Given the description of an element on the screen output the (x, y) to click on. 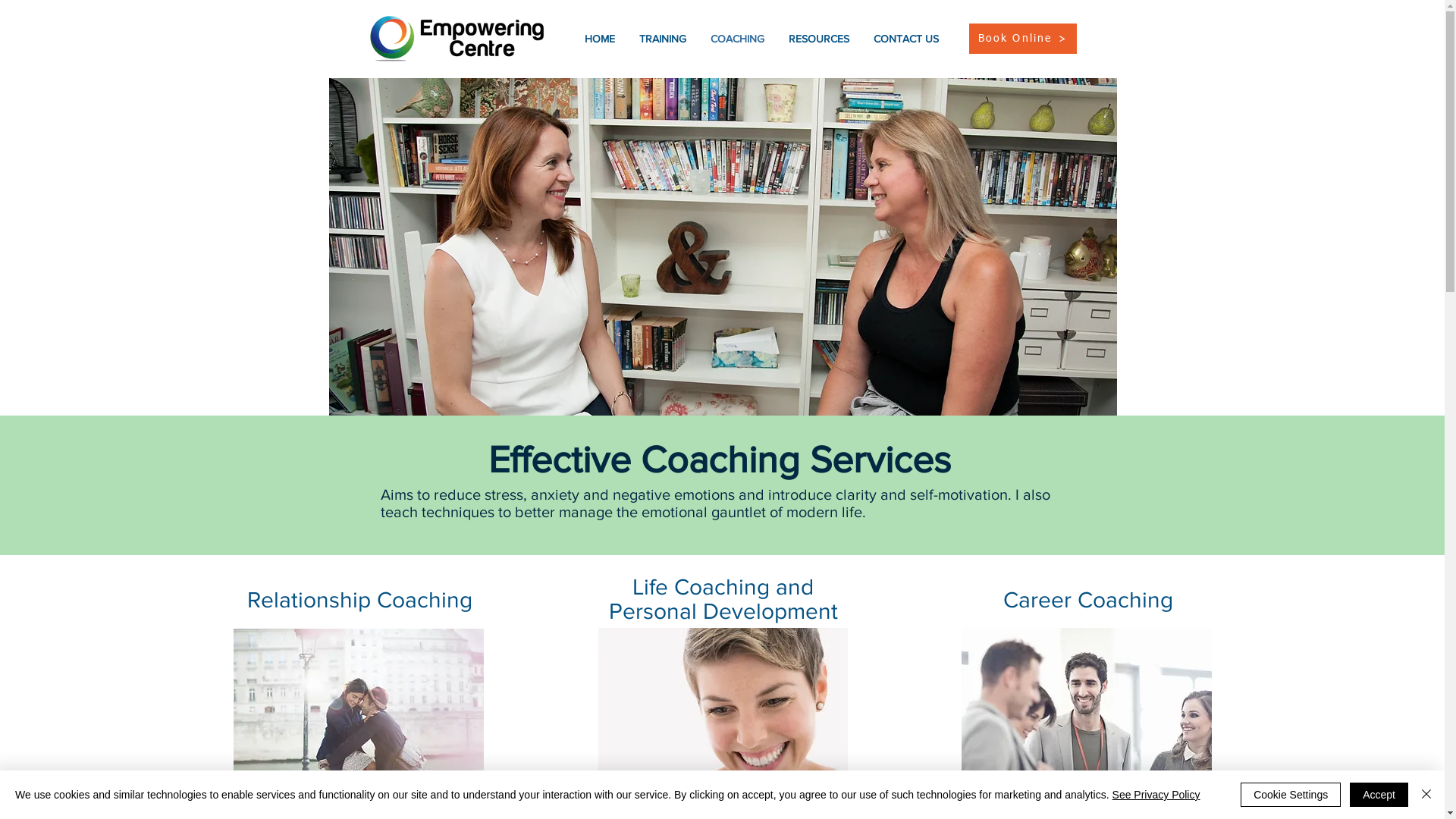
Accept Element type: text (1378, 794)
See Privacy Policy Element type: text (1156, 794)
HOME Element type: text (600, 38)
Book Online Element type: text (1022, 38)
RESOURCES Element type: text (818, 38)
CONTACT US Element type: text (905, 38)
TRAINING Element type: text (663, 38)
Relationship  Element type: text (311, 599)
Embedded Content Element type: hover (1074, 70)
Cookie Settings Element type: text (1290, 794)
COACHING Element type: text (738, 38)
Coaching Element type: text (424, 599)
